Given the description of an element on the screen output the (x, y) to click on. 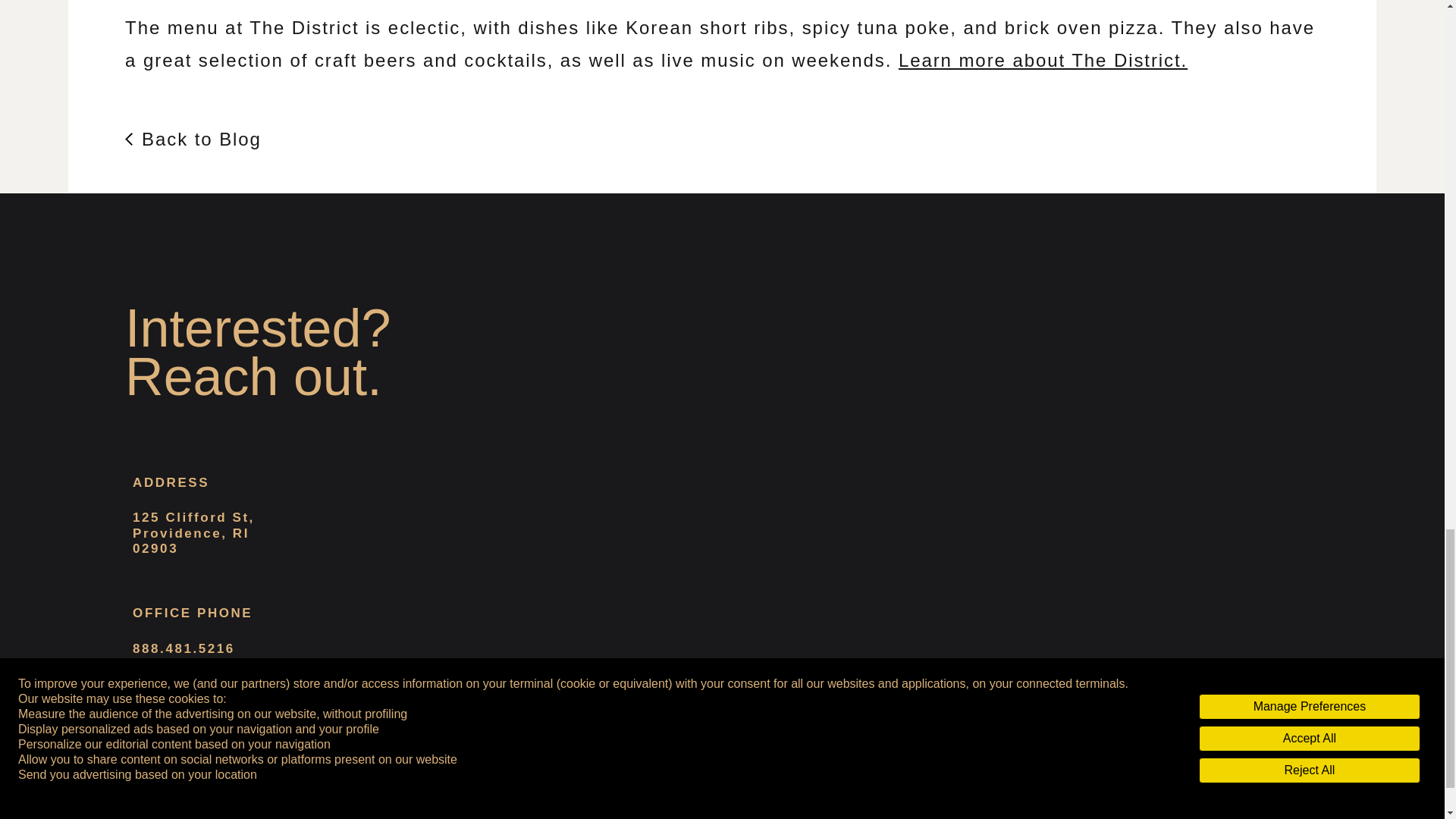
Back to Blog (193, 138)
Learn more about The District. (1043, 59)
